Given the description of an element on the screen output the (x, y) to click on. 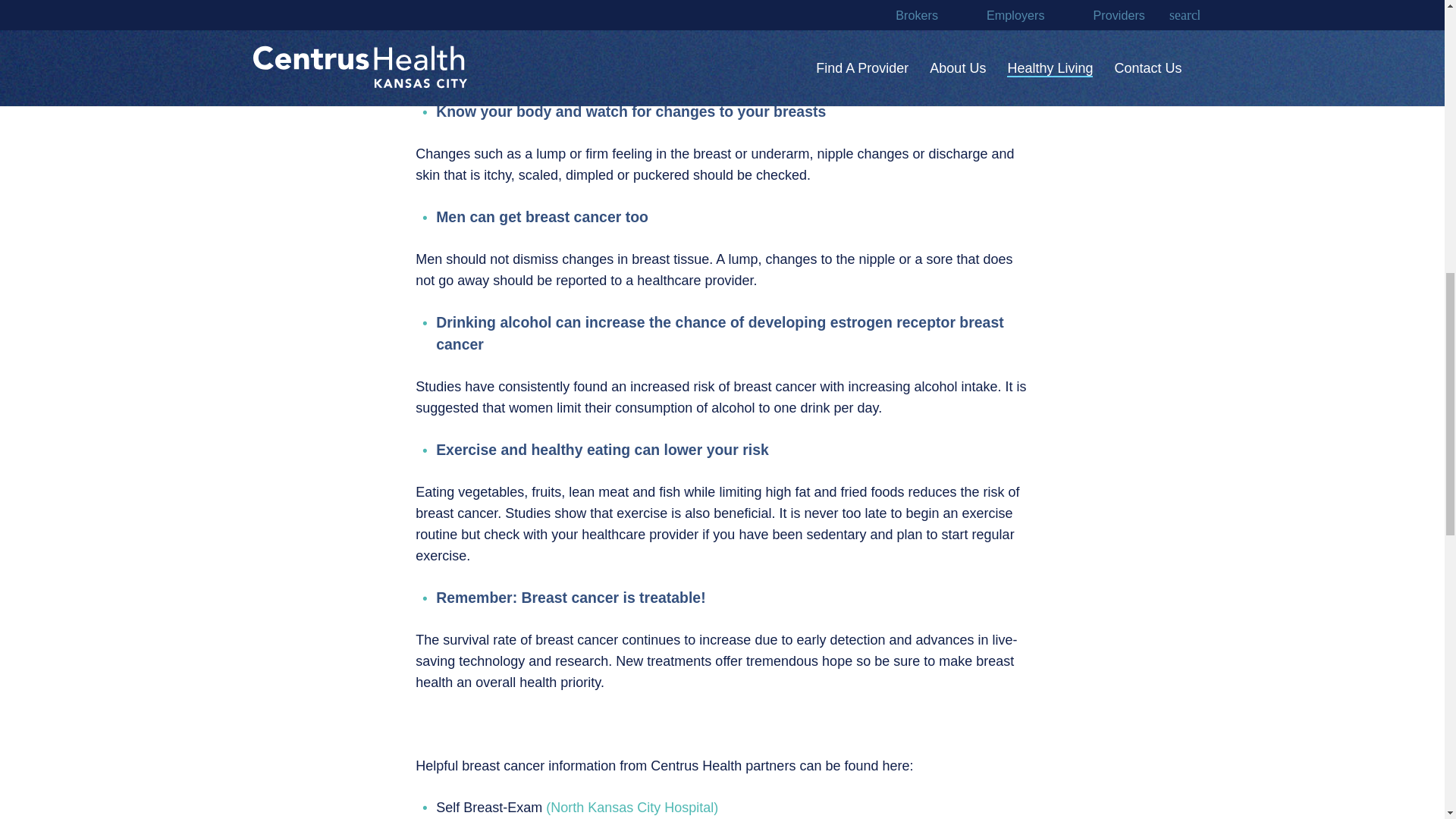
Back to top (1413, 26)
Tweet this (334, 5)
Share this (334, 34)
Pin this (334, 75)
